Given the description of an element on the screen output the (x, y) to click on. 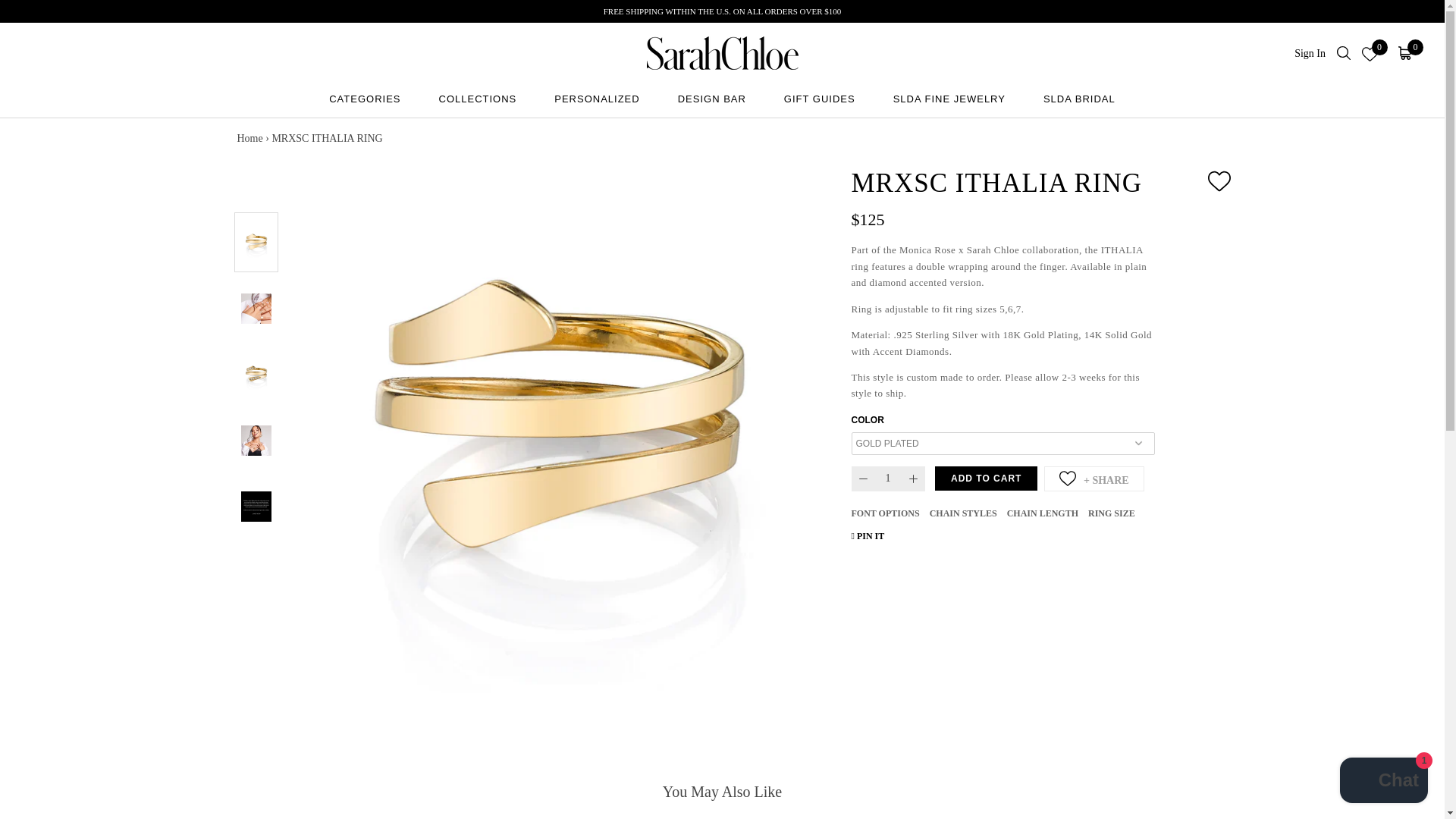
1 (888, 478)
Variant (1002, 443)
Home (248, 138)
